Given the description of an element on the screen output the (x, y) to click on. 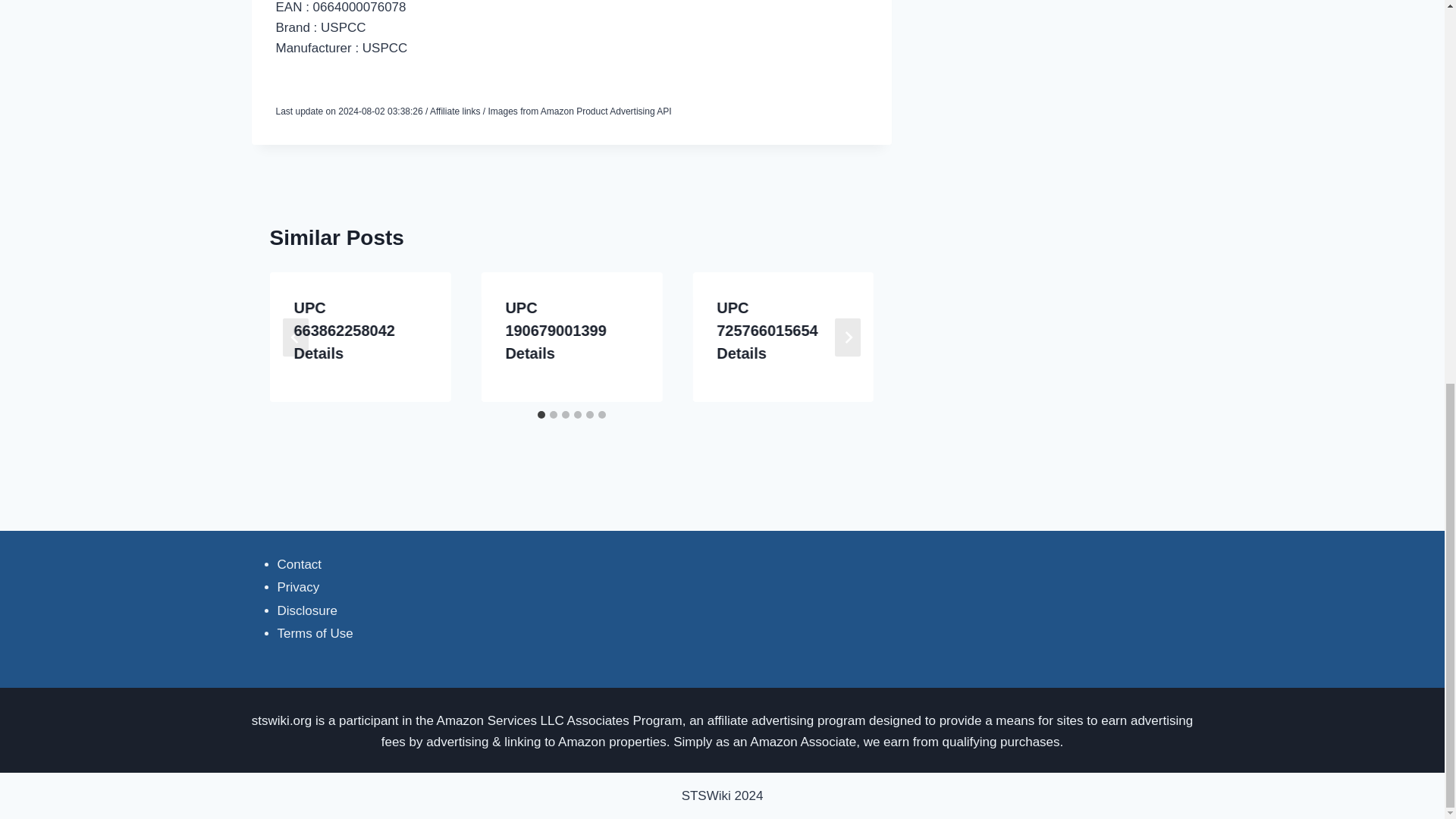
UPC 663862258042 Details (344, 330)
UPC 725766015654 Details (766, 330)
Contact (299, 564)
Terms of Use (315, 633)
Privacy (299, 586)
Disclosure (307, 610)
UPC 190679001399 Details (555, 330)
